Given the description of an element on the screen output the (x, y) to click on. 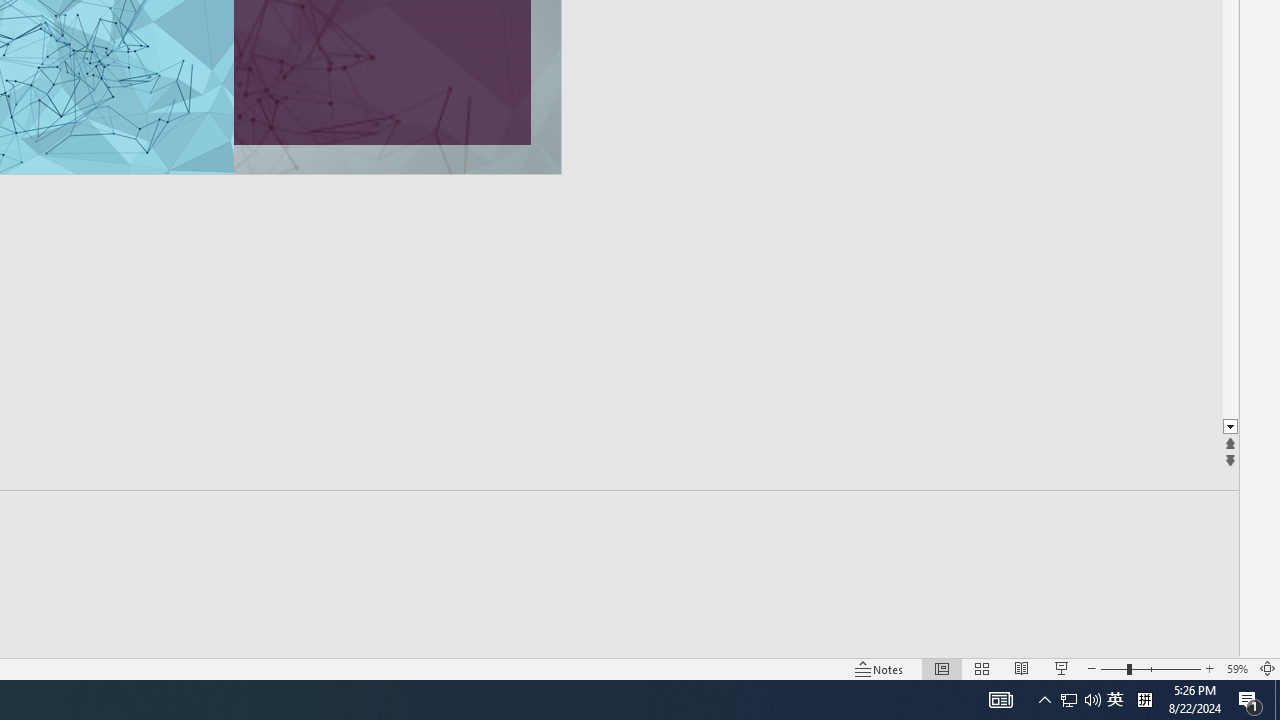
Zoom 59% (1236, 668)
